Given the description of an element on the screen output the (x, y) to click on. 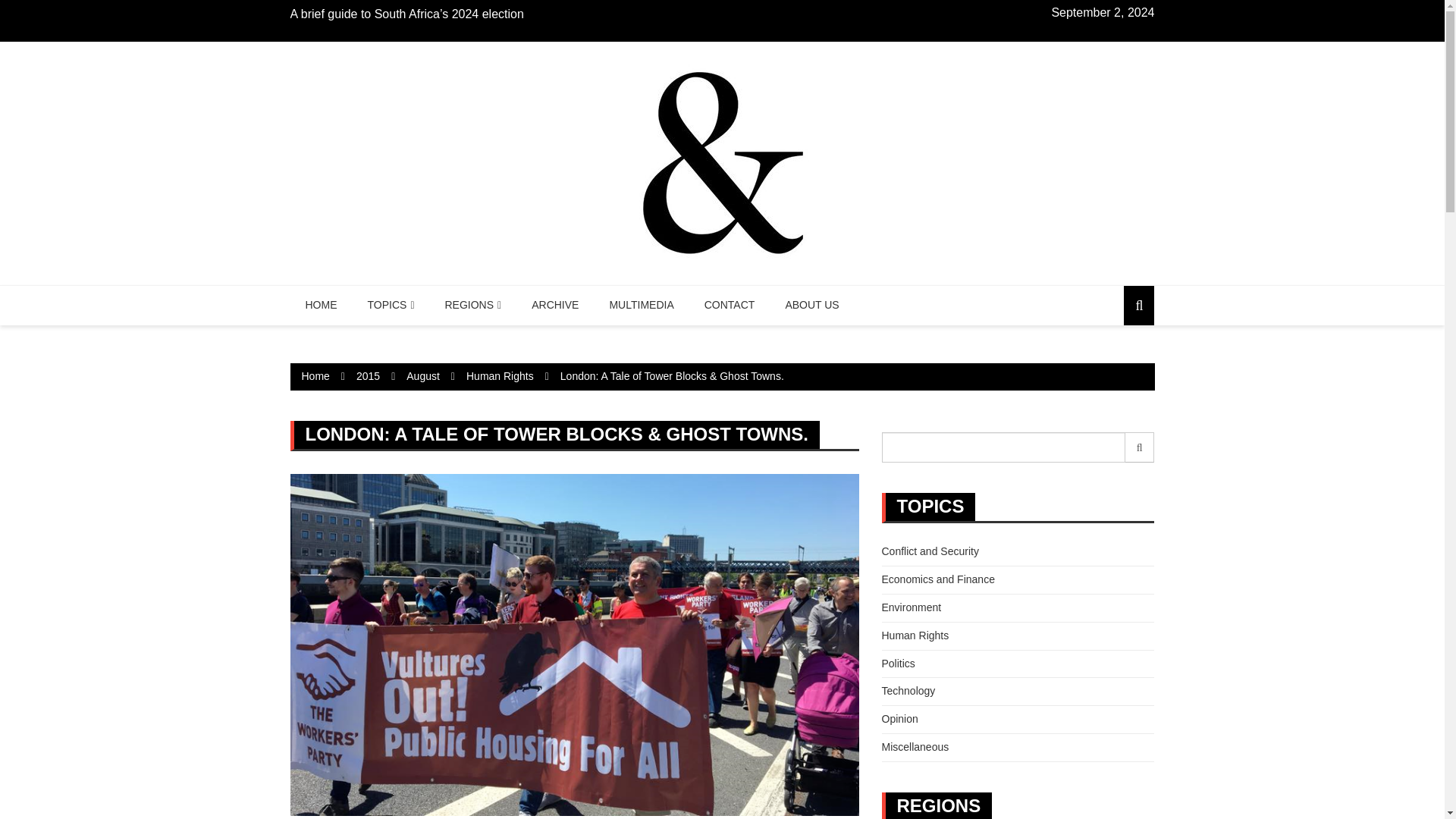
ABOUT US (811, 305)
REGIONS (472, 305)
CONTACT (729, 305)
Home (315, 376)
August (422, 376)
ARCHIVE (555, 305)
MULTIMEDIA (641, 305)
Human Rights (499, 376)
2015 (368, 376)
TOPICS (390, 305)
